Given the description of an element on the screen output the (x, y) to click on. 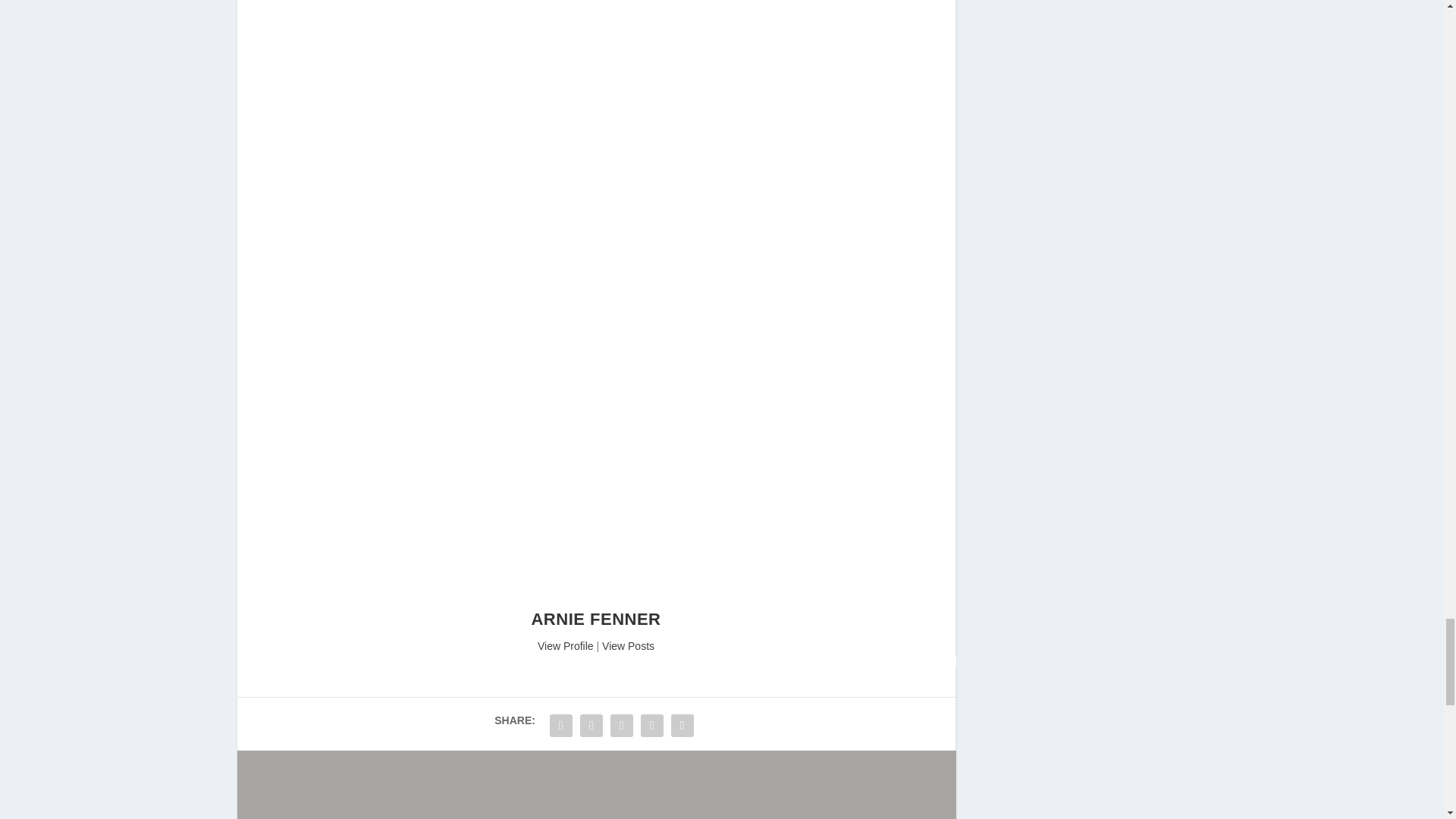
About the author (596, 601)
Share "Dave Stevens Documentary" via Tumblr (651, 725)
Share "Dave Stevens Documentary" via Twitter (591, 725)
About the author (565, 645)
View all posts by Arnie Fenner (596, 618)
Share "Dave Stevens Documentary" via Pinterest (681, 725)
Share "Dave Stevens Documentary" via Facebook (561, 725)
